Given the description of an element on the screen output the (x, y) to click on. 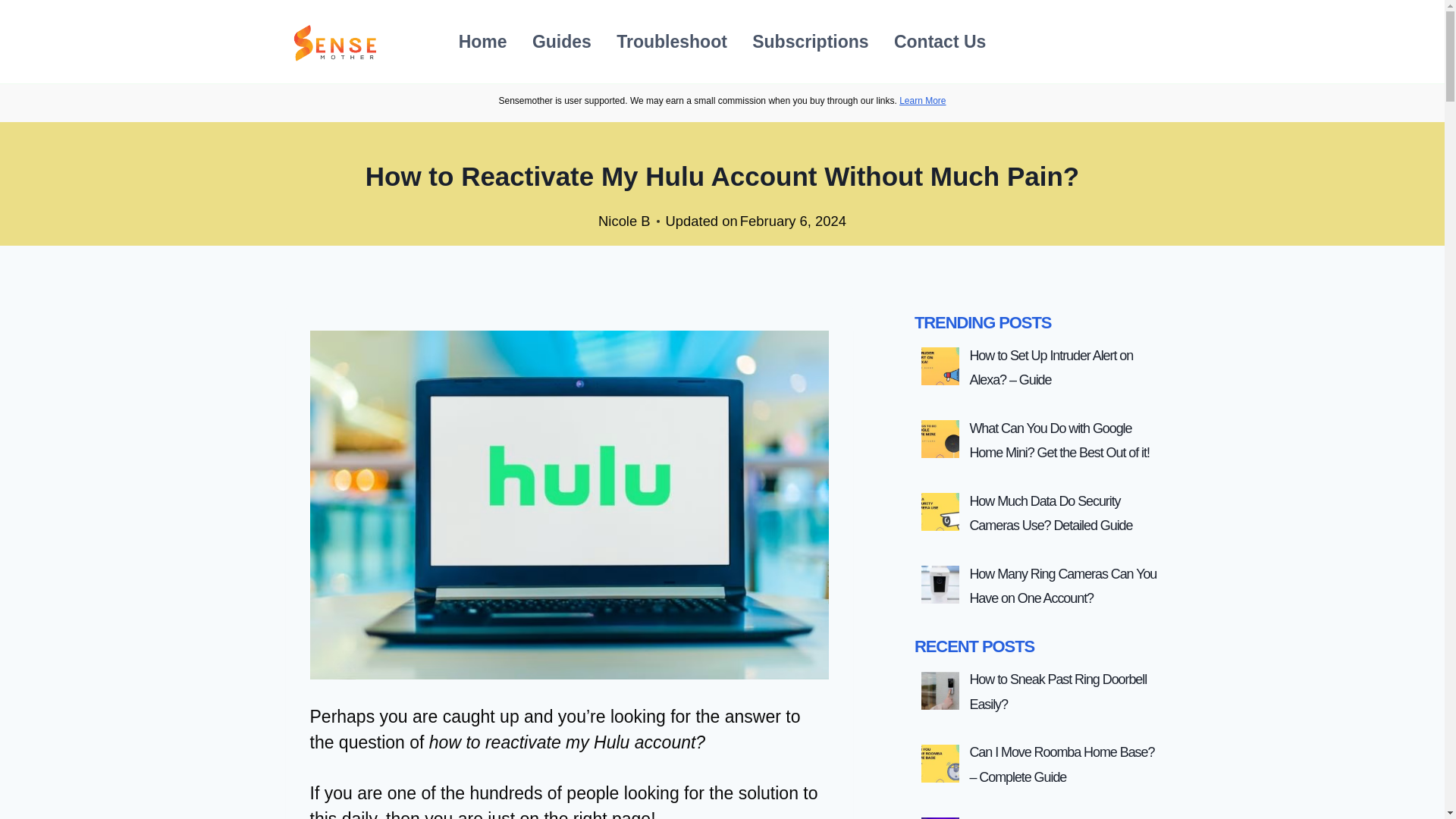
Subscriptions (810, 41)
How Many Ring Cameras Can You Have on One Account? 8 (940, 584)
Contact Us (939, 41)
How Many Ring Cameras Can You Have on One Account? (1062, 586)
Troubleshoot (671, 41)
Learn More (921, 100)
Guides (561, 41)
How Much Data Do Security Cameras Use? Detailed Guide (1050, 513)
